Given the description of an element on the screen output the (x, y) to click on. 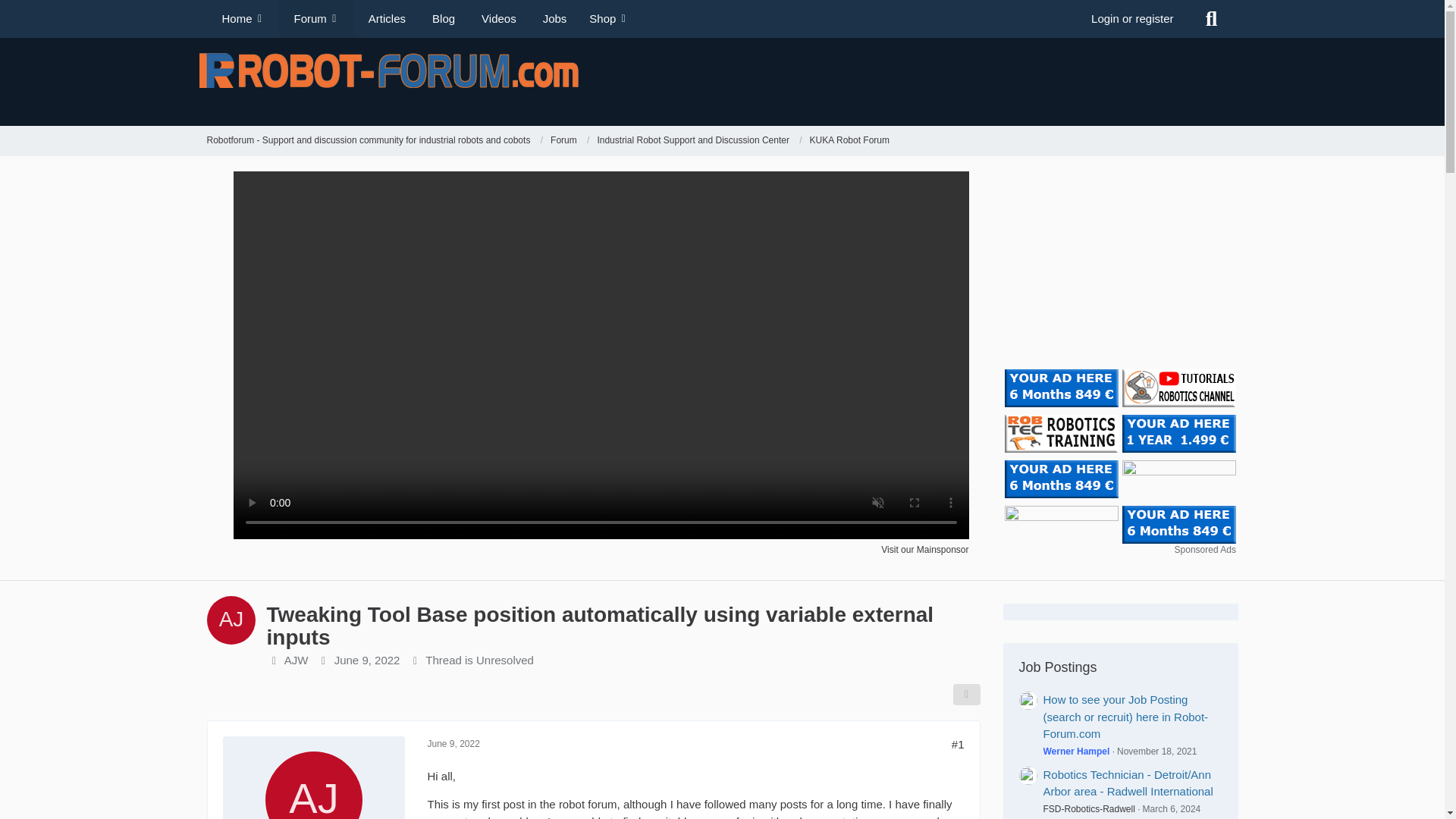
KUKA Robot Forum (849, 141)
Your browser does not support videos (600, 534)
Login or register (1132, 18)
Industrial Robot Support and Discussion Center (692, 141)
Forum (563, 141)
Forum (569, 141)
Industrial Robot Support and Discussion Center (699, 141)
Blog (440, 18)
Jobs (552, 18)
